Given the description of an element on the screen output the (x, y) to click on. 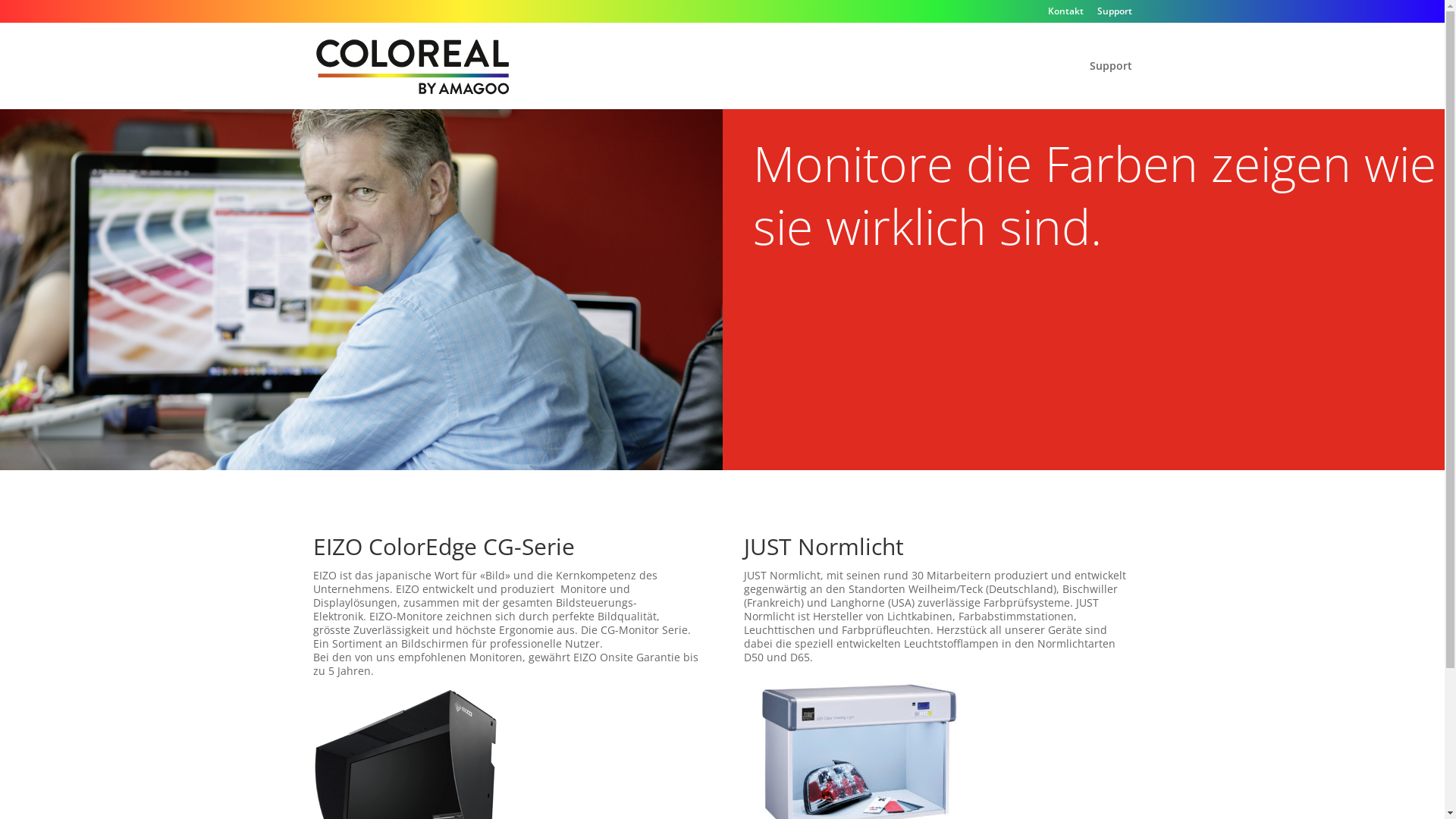
Support Element type: text (1113, 14)
Kontakt Element type: text (1065, 14)
Support Element type: text (1109, 84)
